Given the description of an element on the screen output the (x, y) to click on. 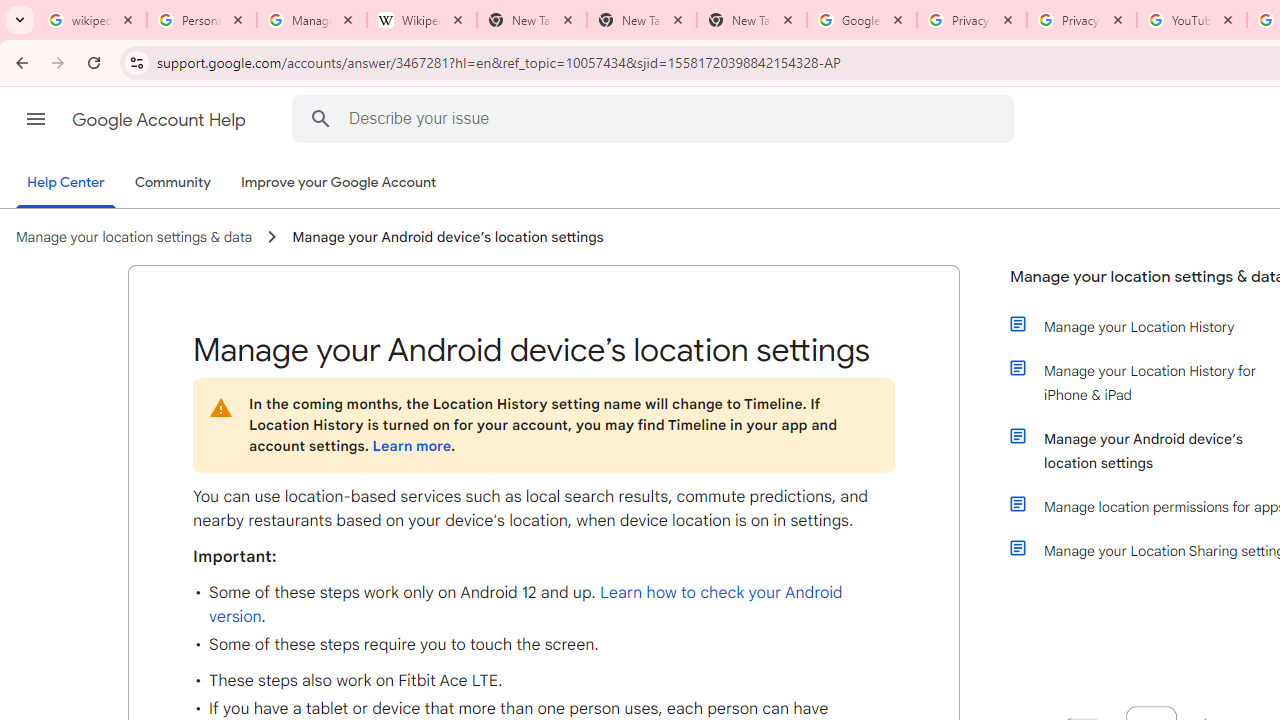
Learn how to check your Android version (525, 605)
Search Help Center (320, 118)
Describe your issue (655, 118)
Personalization & Google Search results - Google Search Help (202, 20)
Learn more (411, 446)
Manage your location settings & data (134, 237)
YouTube (1191, 20)
New Tab (642, 20)
